Given the description of an element on the screen output the (x, y) to click on. 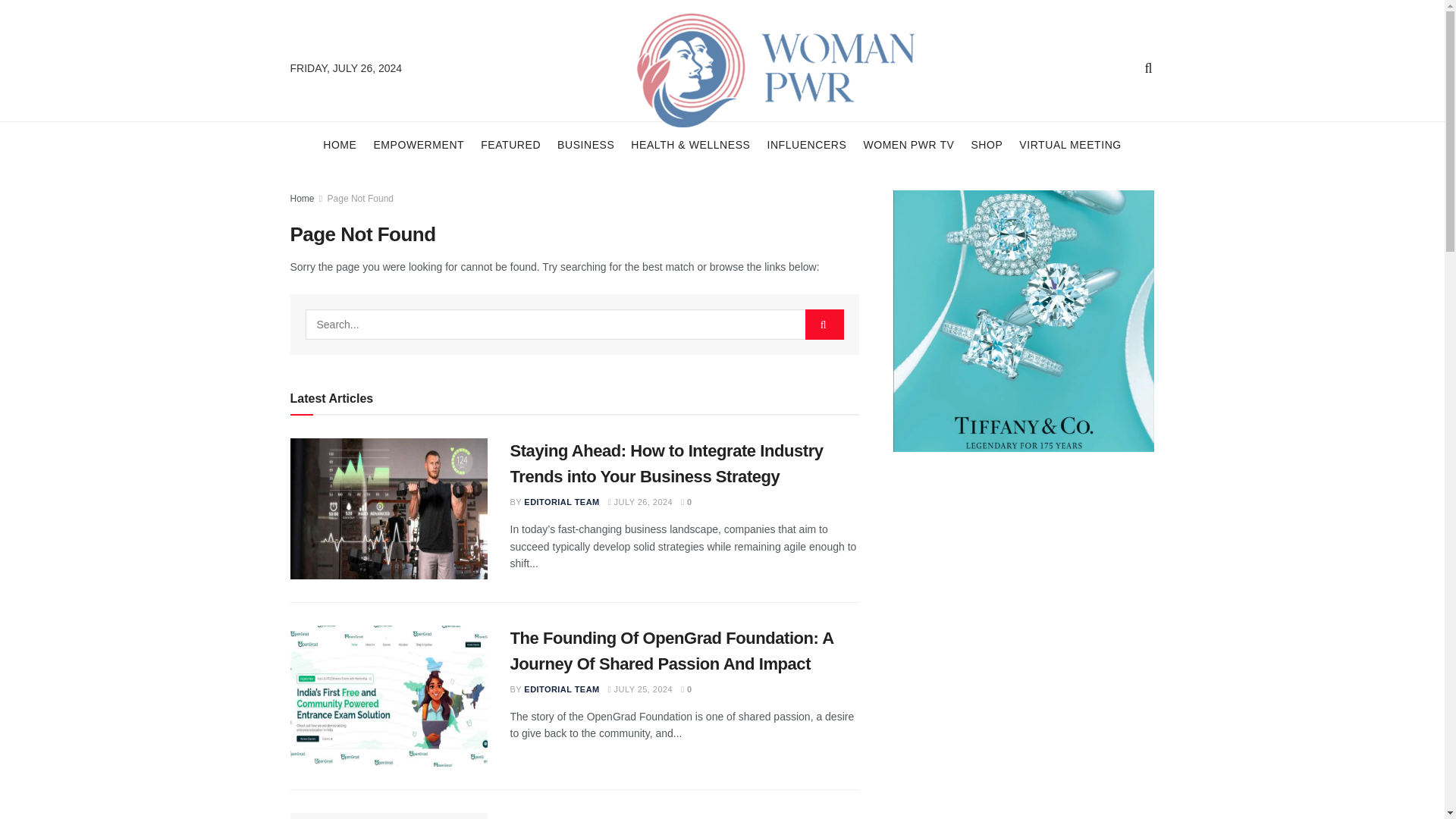
WOMEN PWR TV (908, 144)
JULY 26, 2024 (640, 501)
VIRTUAL MEETING (1070, 144)
EMPOWERMENT (418, 144)
Page Not Found (360, 198)
BUSINESS (585, 144)
Home (301, 198)
FEATURED (510, 144)
EDITORIAL TEAM (561, 501)
0 (687, 501)
INFLUENCERS (806, 144)
